Given the description of an element on the screen output the (x, y) to click on. 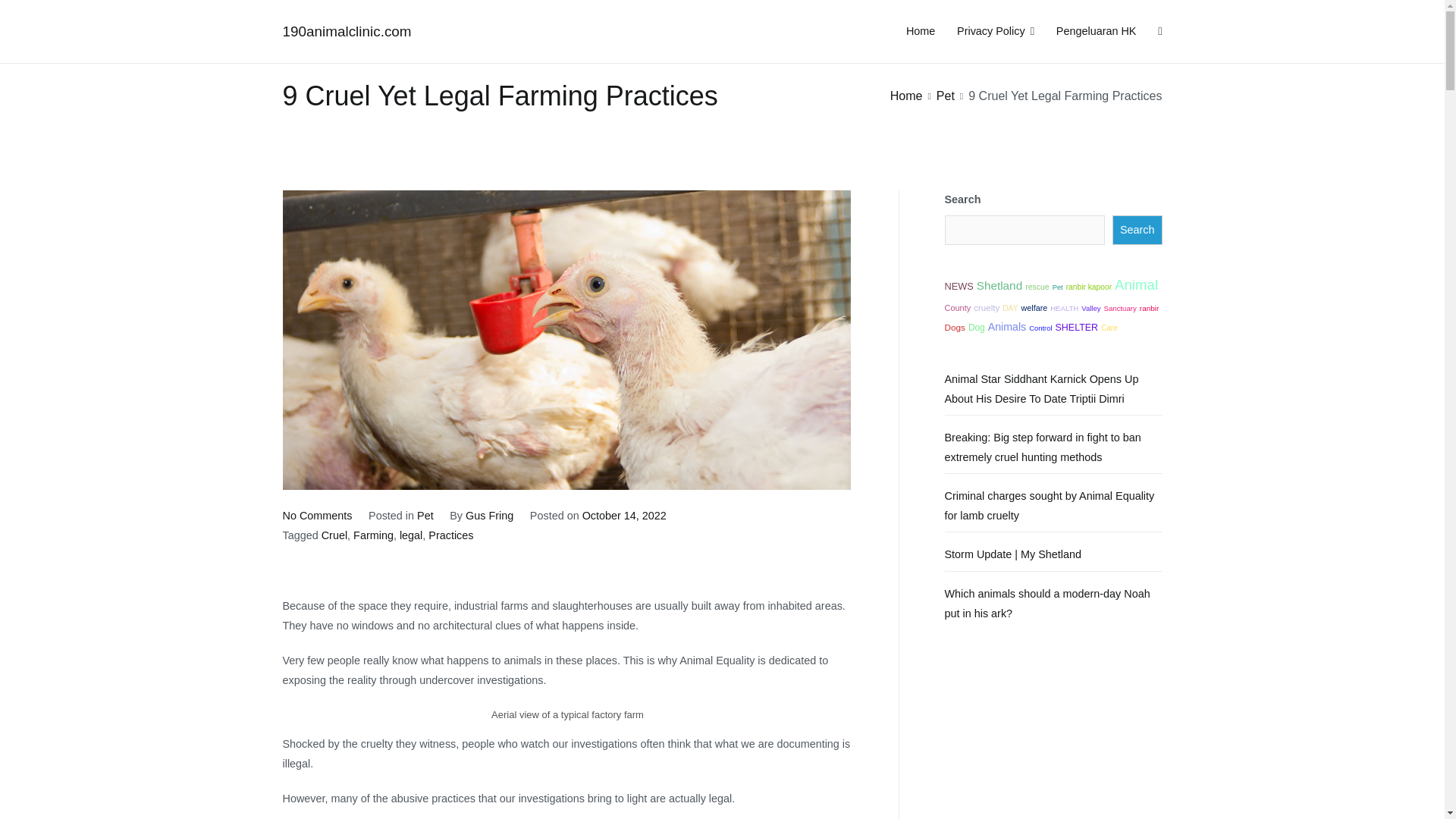
Search (1136, 229)
legal (410, 535)
Pengeluaran HK (1097, 31)
Shetland (999, 285)
October 14, 2022 (624, 515)
Farming (373, 535)
190animalclinic.com (346, 31)
Search (28, 13)
Pet (945, 95)
Pet (1057, 287)
Home (919, 31)
Gus Fring (317, 515)
Pet (489, 515)
Practices (424, 515)
